Given the description of an element on the screen output the (x, y) to click on. 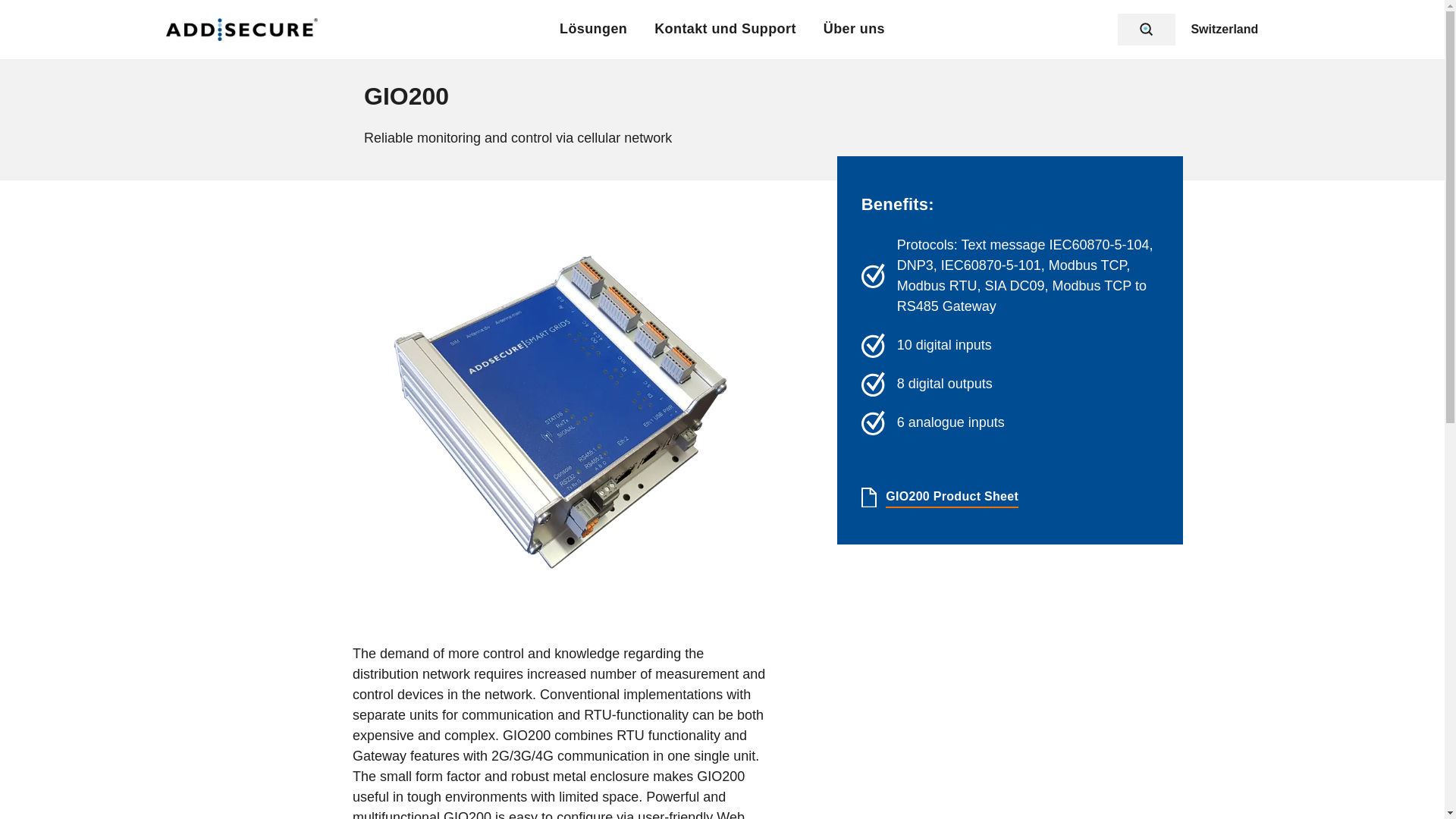
Kontakt und Support (724, 29)
GIO200 Product Sheet (951, 497)
Switzerland (1227, 29)
